Given the description of an element on the screen output the (x, y) to click on. 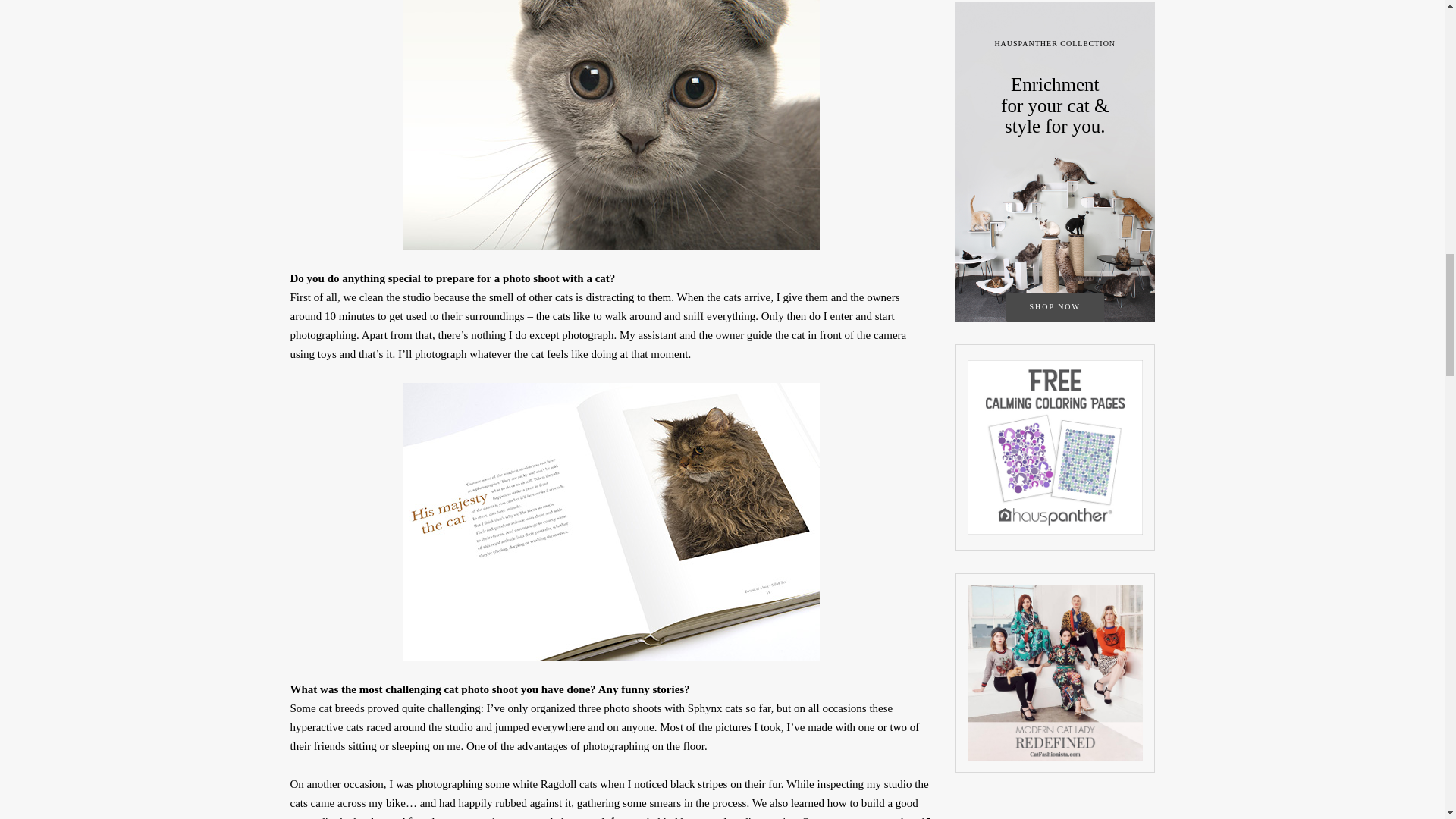
Cat Fashionista (1055, 672)
